Given the description of an element on the screen output the (x, y) to click on. 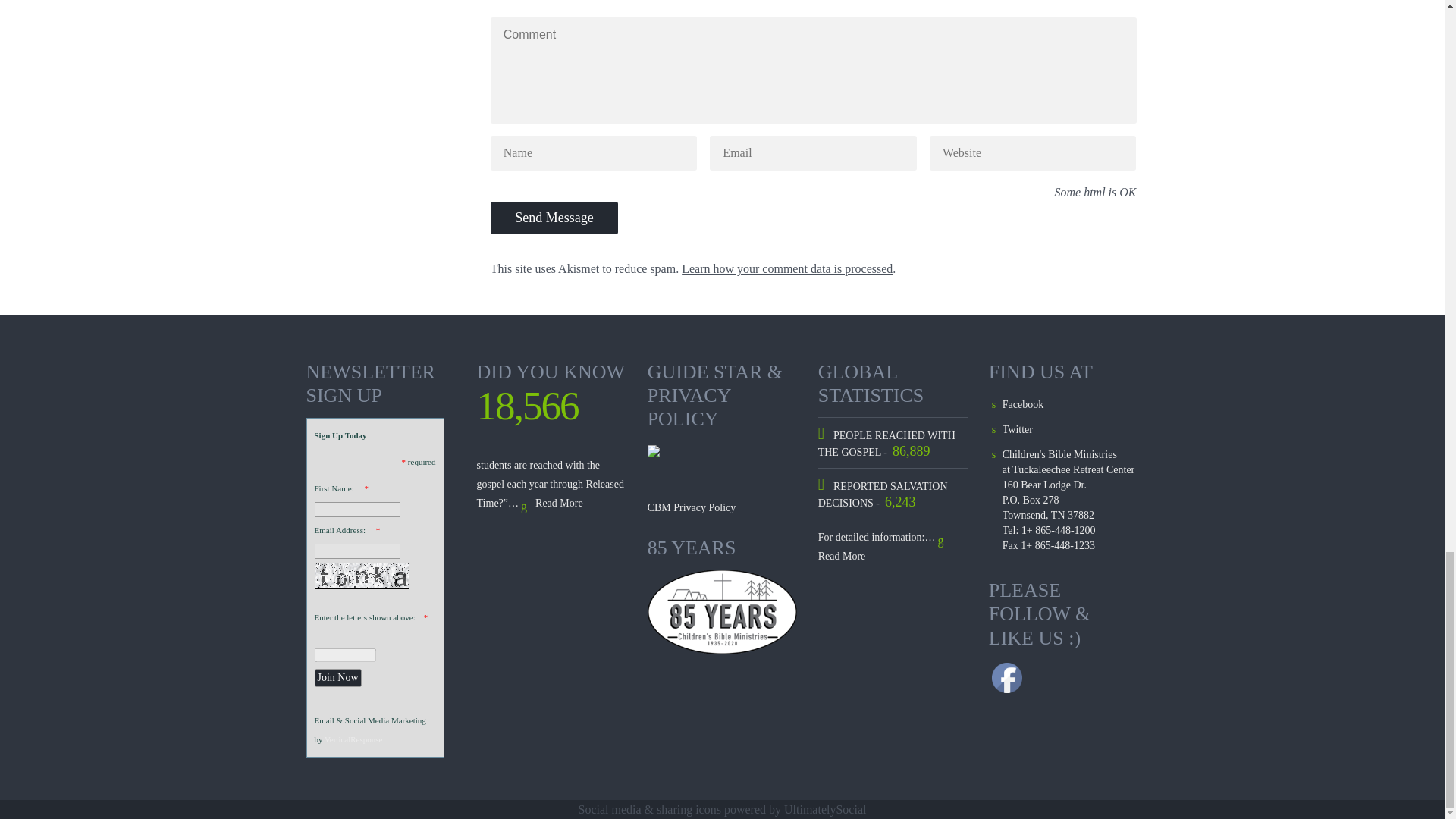
85 Years (722, 612)
Send Message (553, 217)
Join Now (337, 678)
